Given the description of an element on the screen output the (x, y) to click on. 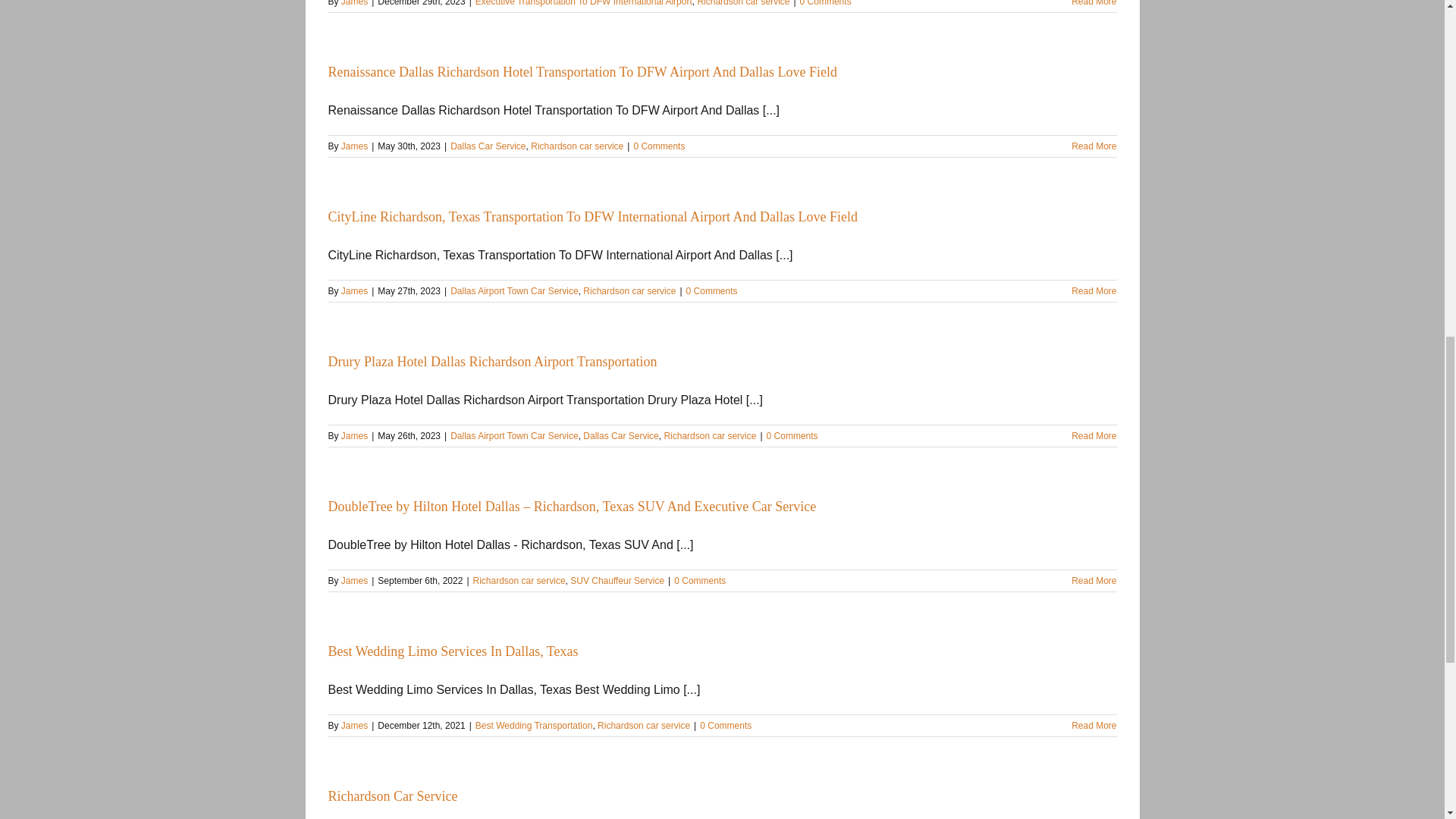
Posts by James (354, 725)
0 Comments (658, 145)
James (354, 3)
Posts by James (354, 435)
Executive Transportation To DFW International Airport (584, 3)
Richardson car service (577, 145)
Posts by James (354, 580)
Posts by James (354, 145)
Richardson car service (743, 3)
James (354, 145)
Dallas Car Service (487, 145)
0 Comments (825, 3)
Posts by James (354, 290)
Read More (1093, 3)
